Given the description of an element on the screen output the (x, y) to click on. 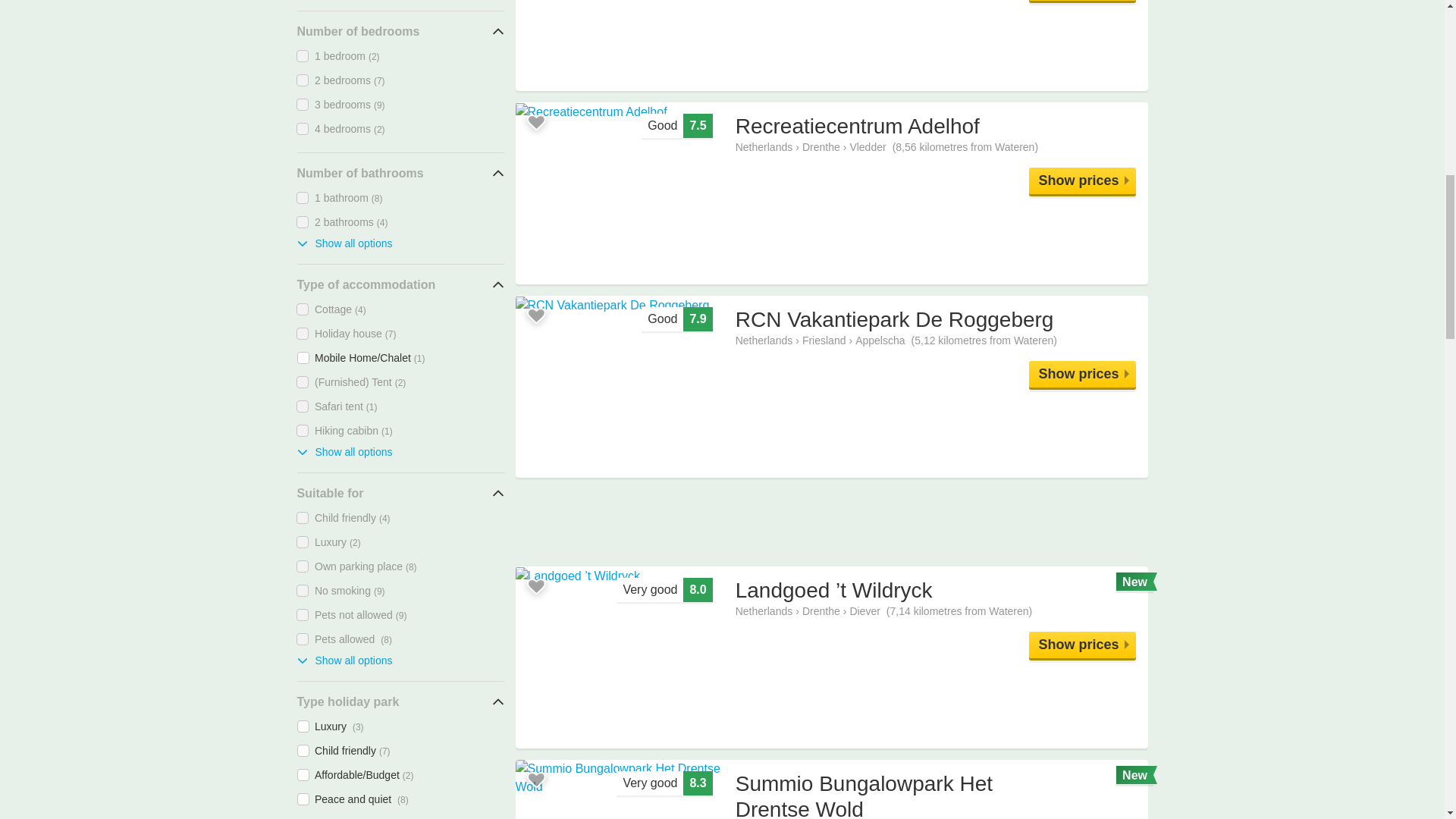
Recreatiecentrum Adelhof (1082, 180)
Pet Specials (831, 521)
RCN Vakantiepark De Roggeberg (1082, 374)
